Given the description of an element on the screen output the (x, y) to click on. 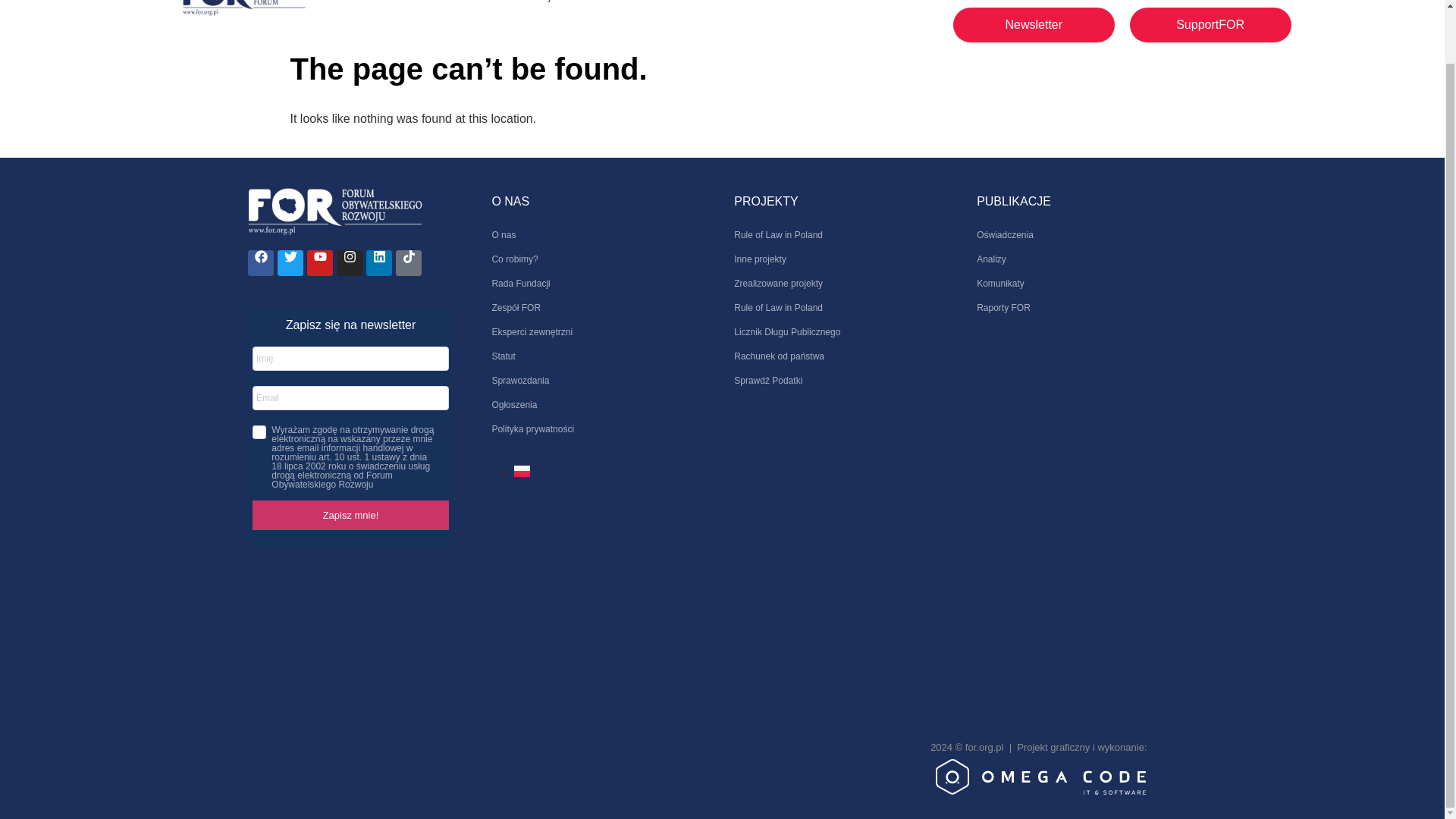
Co robimy? (596, 259)
Projects (551, 8)
Publications (470, 8)
Statut (596, 355)
O nas (596, 234)
Newsletter (1034, 24)
Rule of Law in Poland (839, 234)
SupportFOR (1210, 24)
Contact (620, 8)
About Us (386, 8)
